Given the description of an element on the screen output the (x, y) to click on. 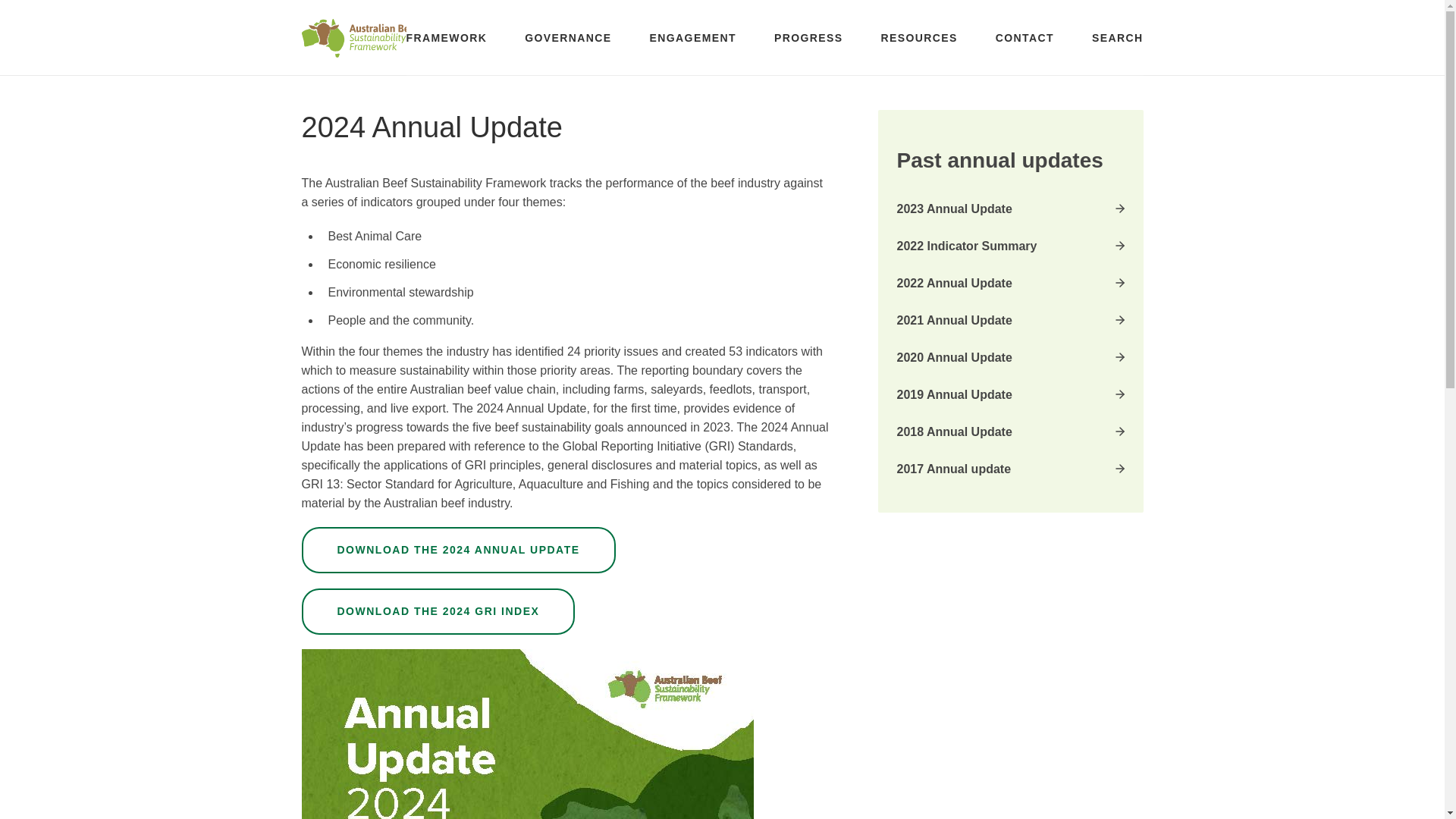
2018 Annual Update (1010, 432)
Theme 3: Environmental Stewardship (390, 81)
Deep dives (319, 81)
Theme 1: Best Animal Care (363, 81)
PROGRESS (808, 37)
Theme 3: Environmental Stewardship (390, 81)
Beef Sustainability - Australian (360, 37)
Value-chain engagement (356, 81)
2021 Annual Update (1010, 321)
RESOURCES (918, 37)
